Given the description of an element on the screen output the (x, y) to click on. 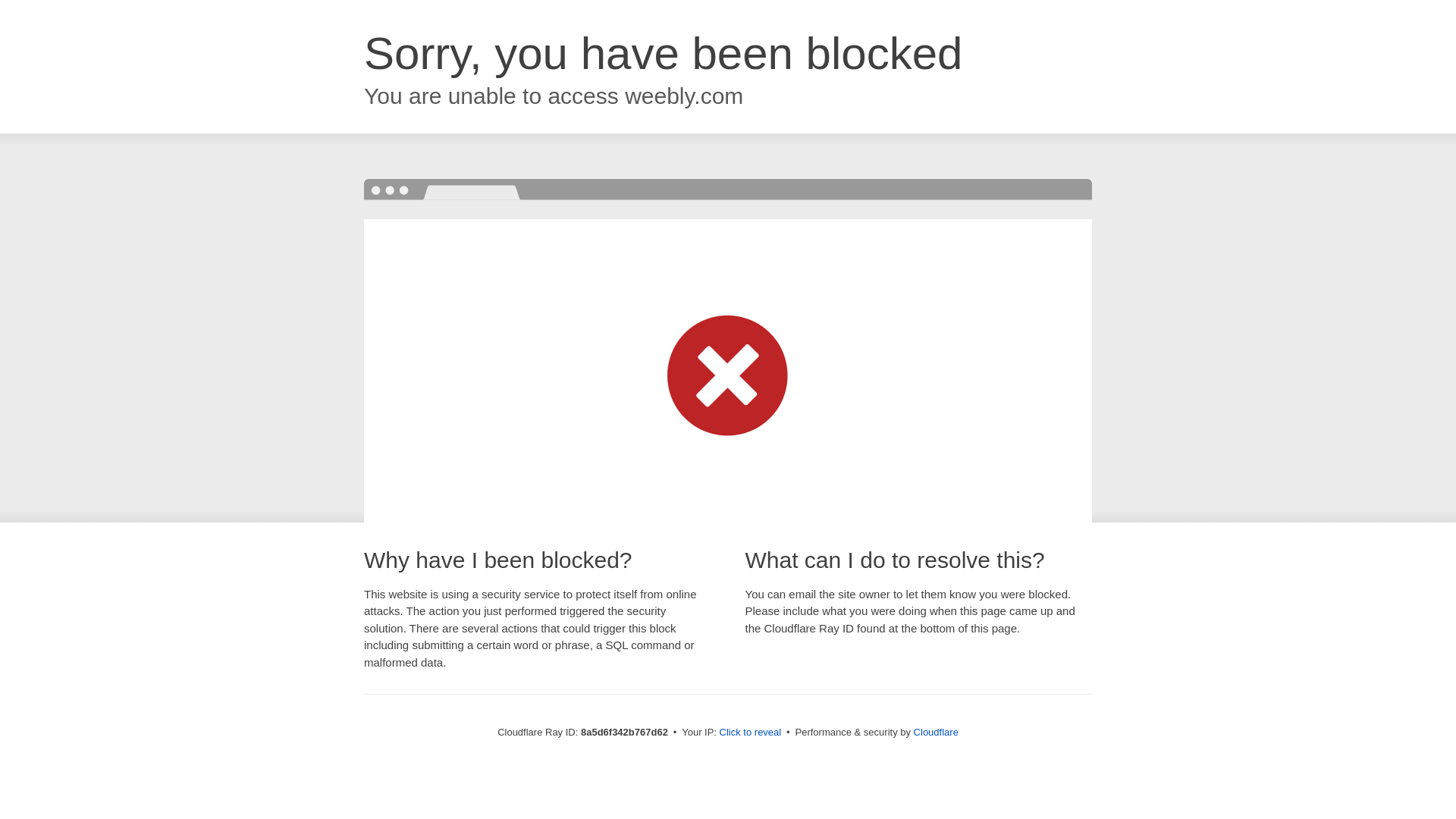
Cloudflare (936, 731)
Click to reveal (750, 732)
